Given the description of an element on the screen output the (x, y) to click on. 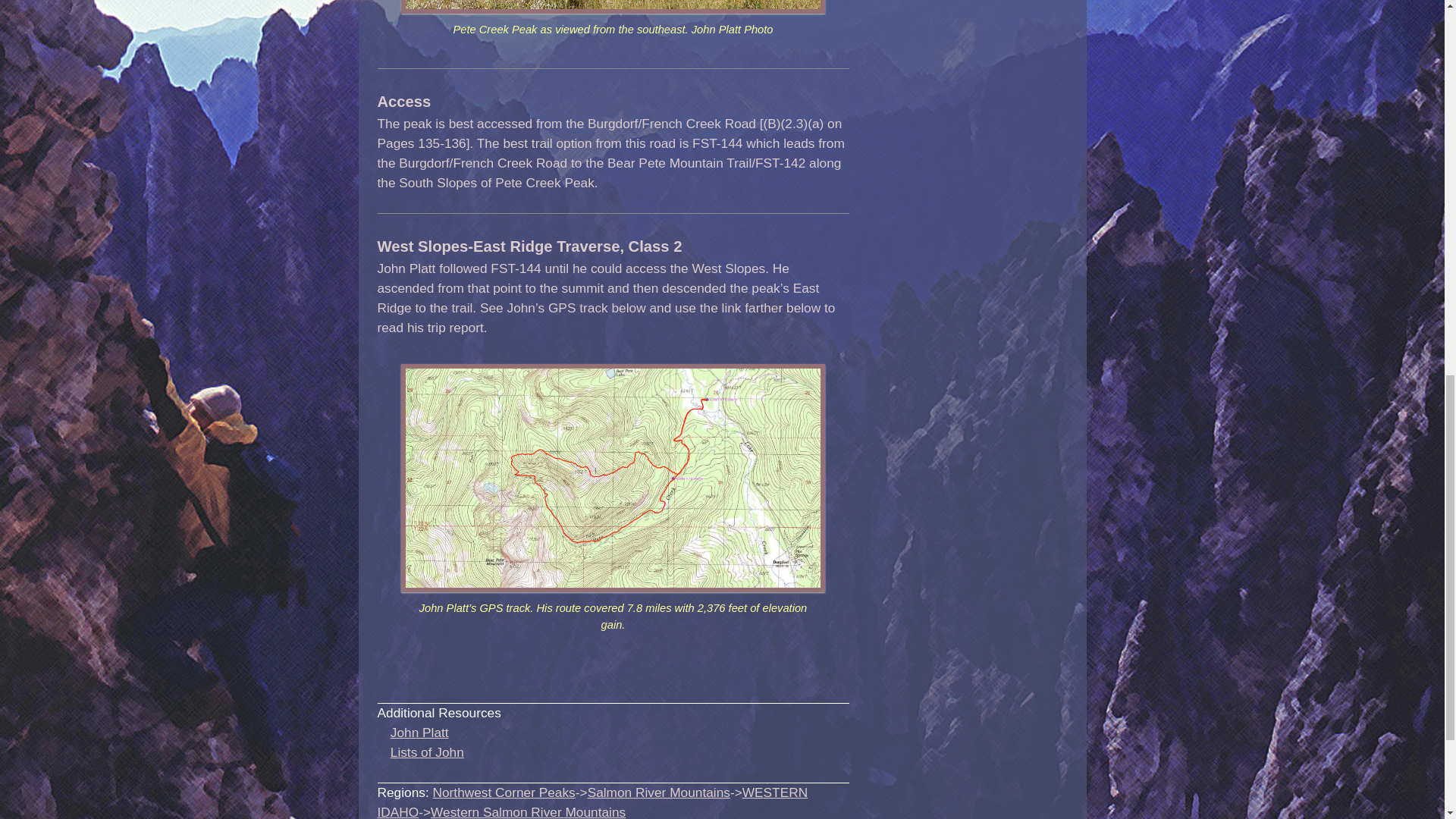
John Platt (419, 732)
Salmon River Mountains (659, 792)
Western Salmon River Mountains (528, 811)
Lists of John (427, 752)
Northwest Corner Peaks (503, 792)
WESTERN IDAHO (592, 801)
